Given the description of an element on the screen output the (x, y) to click on. 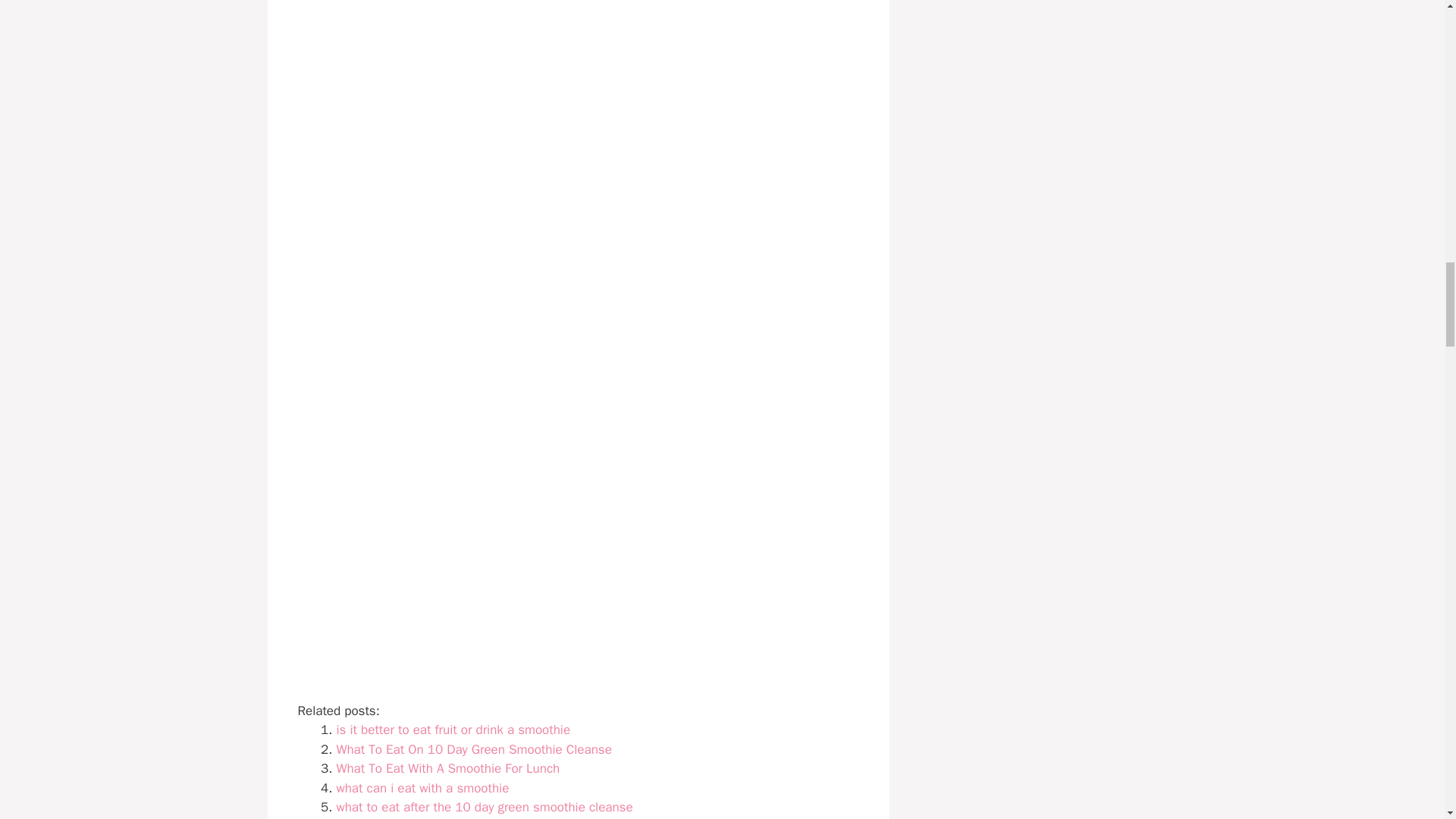
What To Eat With A Smoothie For Lunch (448, 768)
what to eat after the 10 day green smoothie cleanse (484, 806)
what can i eat with a smoothie (422, 788)
What To Eat On 10 Day Green Smoothie Cleanse (473, 749)
is it better to eat fruit or drink a smoothie (453, 729)
What To Eat On 10 Day Green Smoothie Cleanse (473, 749)
is it better to eat fruit or drink a smoothie (453, 729)
what to eat after the 10 day green smoothie cleanse (484, 806)
what can i eat with a smoothie (422, 788)
What To Eat With A Smoothie For Lunch (448, 768)
